Given the description of an element on the screen output the (x, y) to click on. 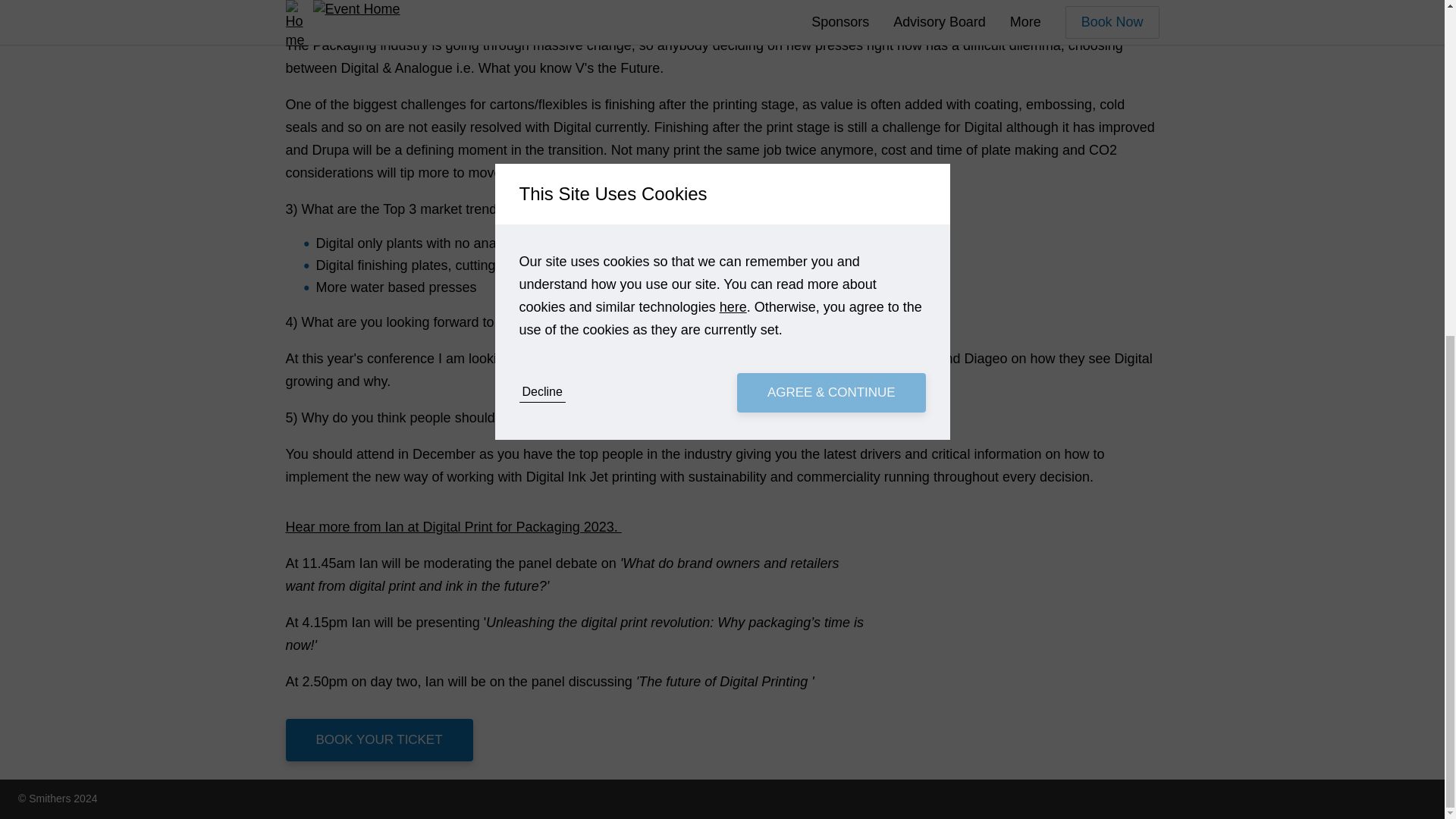
BOOK YOUR TICKET (378, 740)
